Given the description of an element on the screen output the (x, y) to click on. 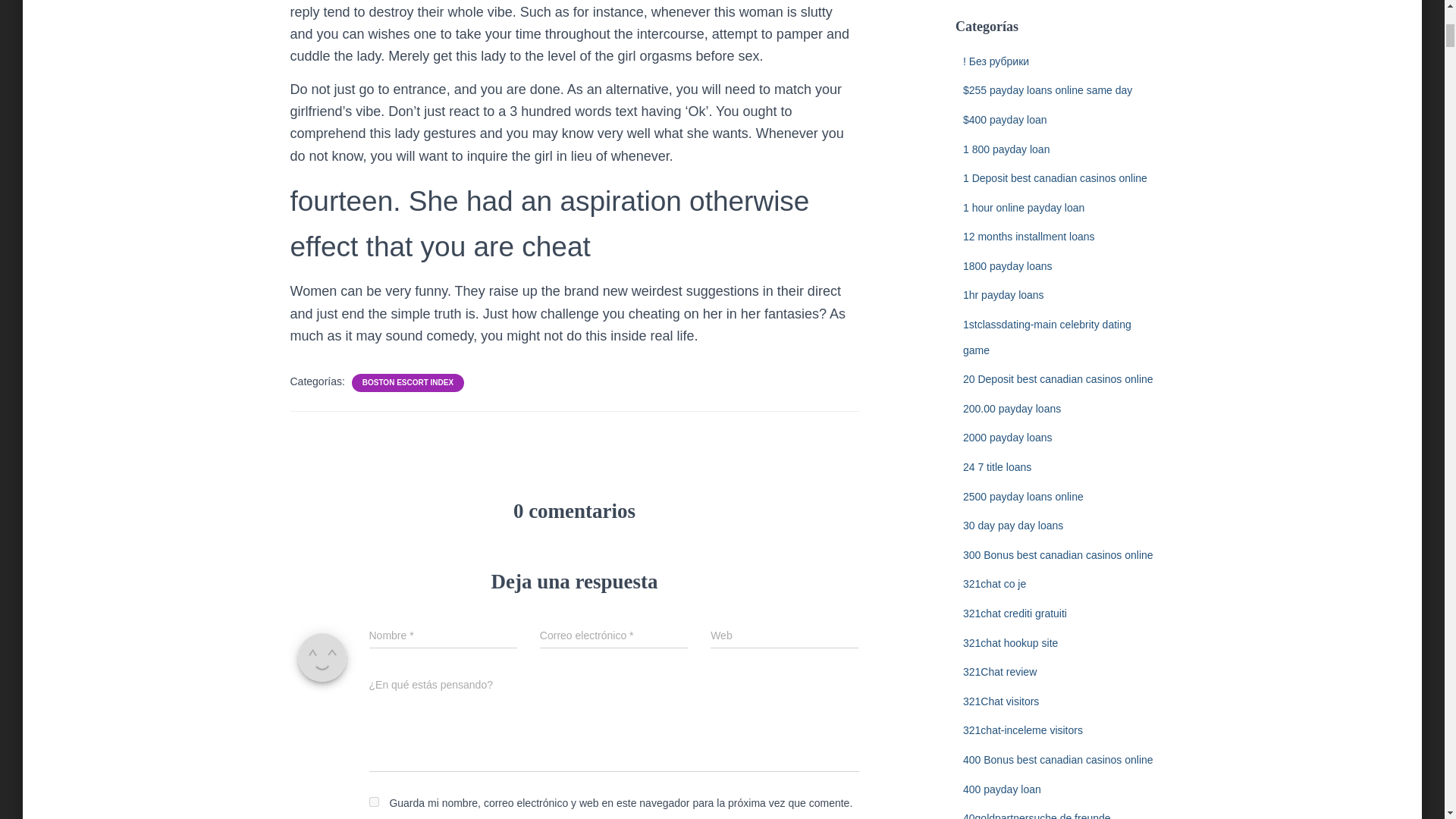
BOSTON ESCORT INDEX (407, 382)
yes (373, 801)
